Given the description of an element on the screen output the (x, y) to click on. 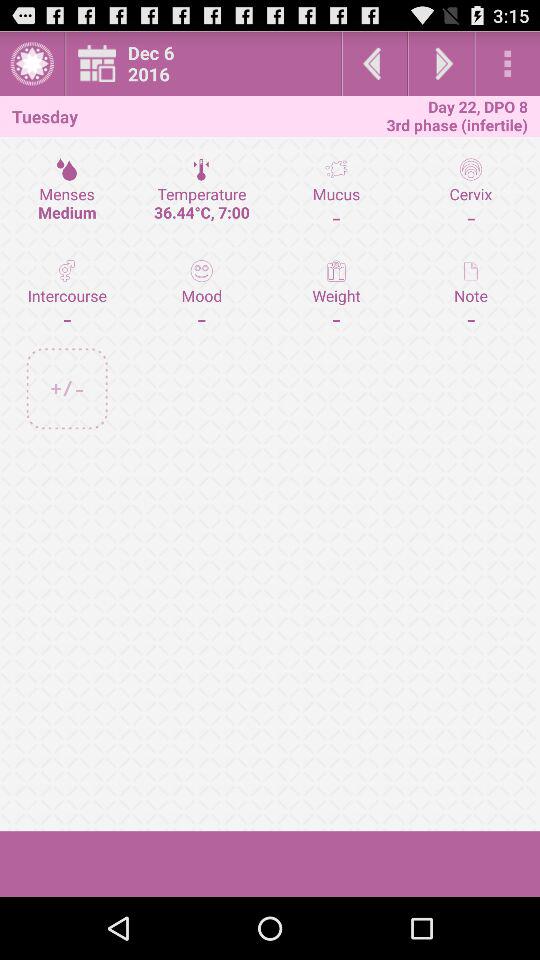
turn on item above the tuesday app (32, 63)
